Given the description of an element on the screen output the (x, y) to click on. 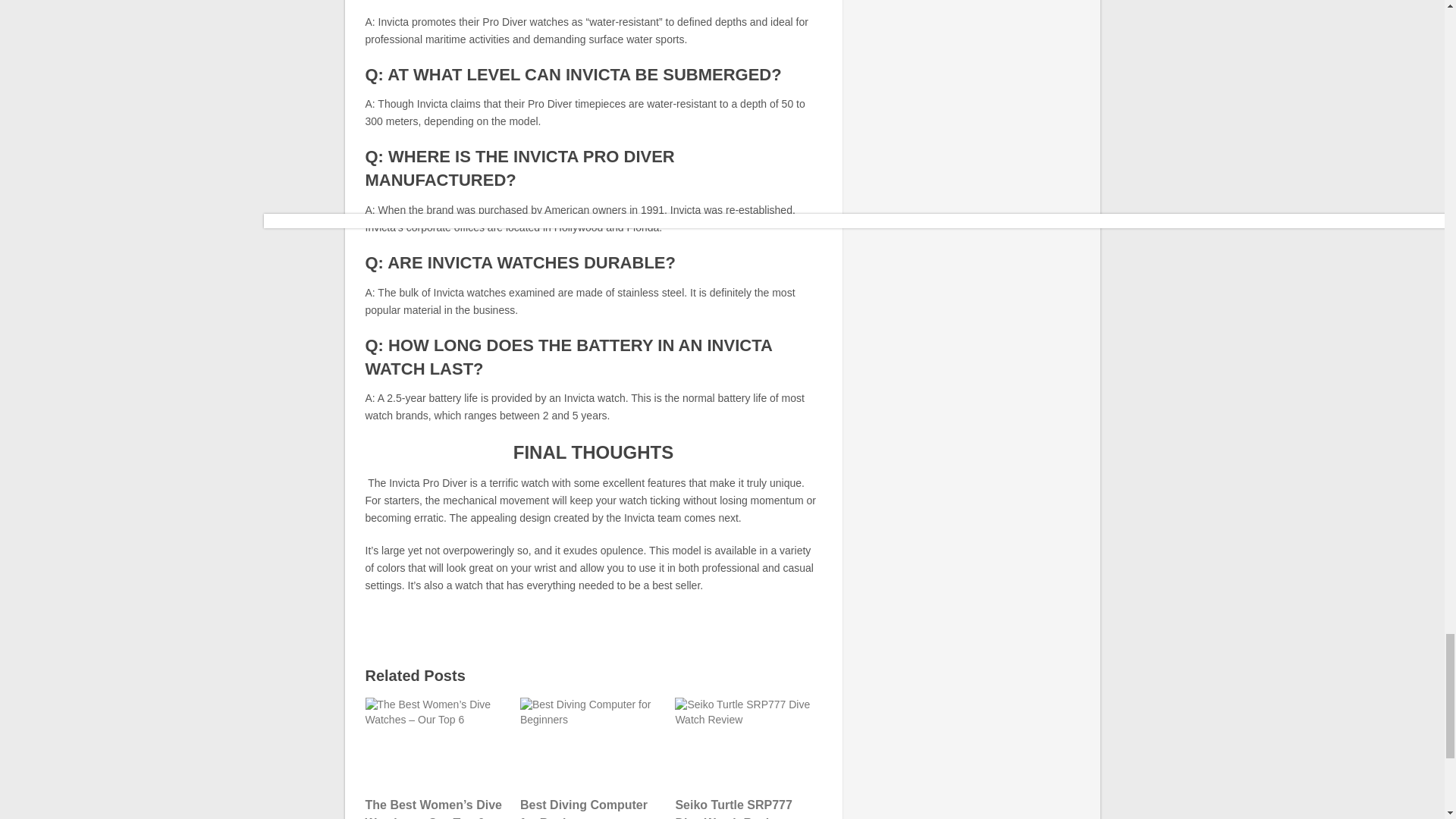
Seiko Turtle SRP777 Dive Watch Review (746, 742)
Best Diving Computer for Beginners (591, 758)
Seiko Turtle SRP777 Dive Watch Review (746, 758)
Best Diving Computer for Beginners (591, 742)
